Given the description of an element on the screen output the (x, y) to click on. 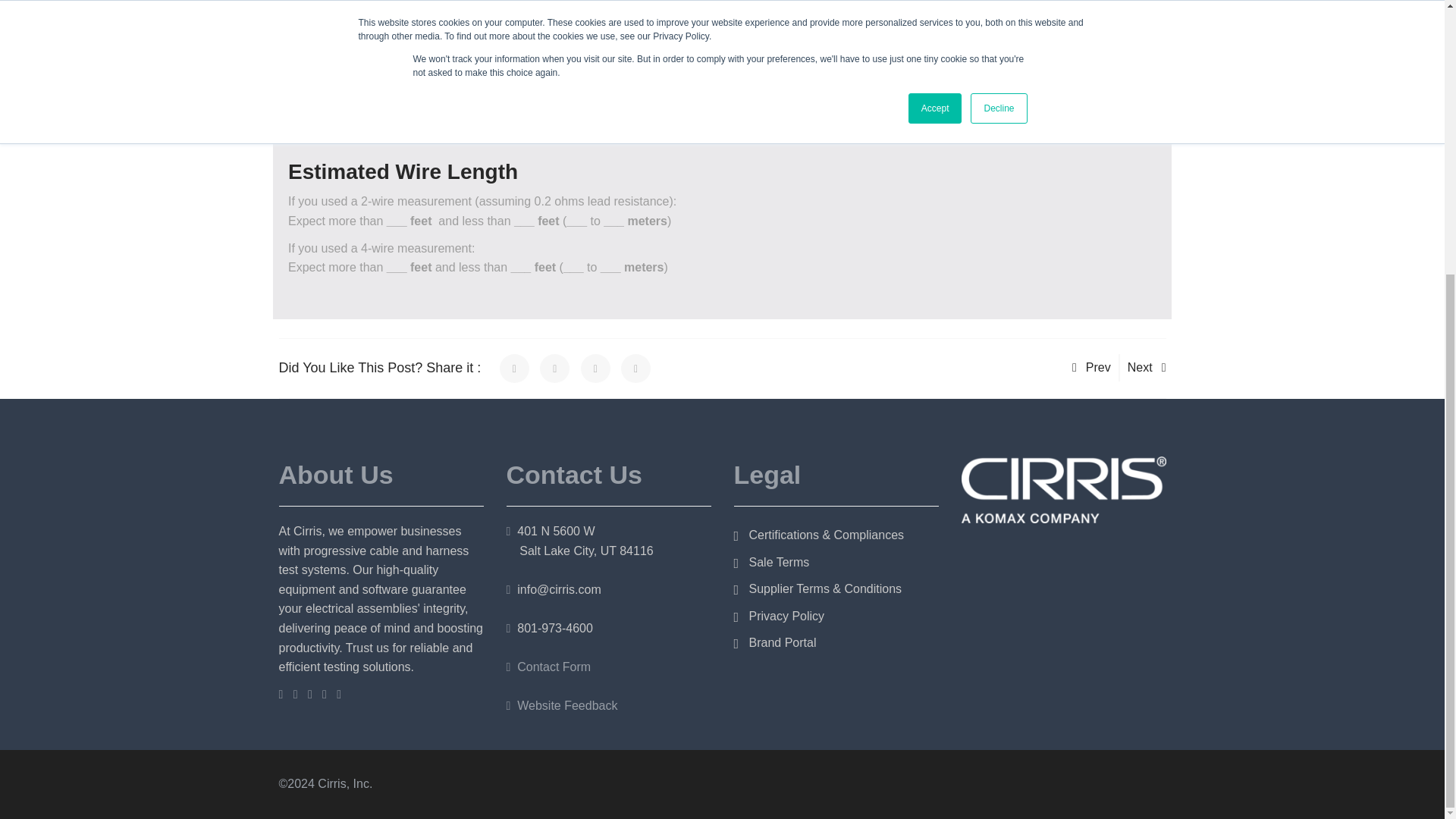
1.0 (493, 28)
Calculate Wire Length (357, 83)
